Given the description of an element on the screen output the (x, y) to click on. 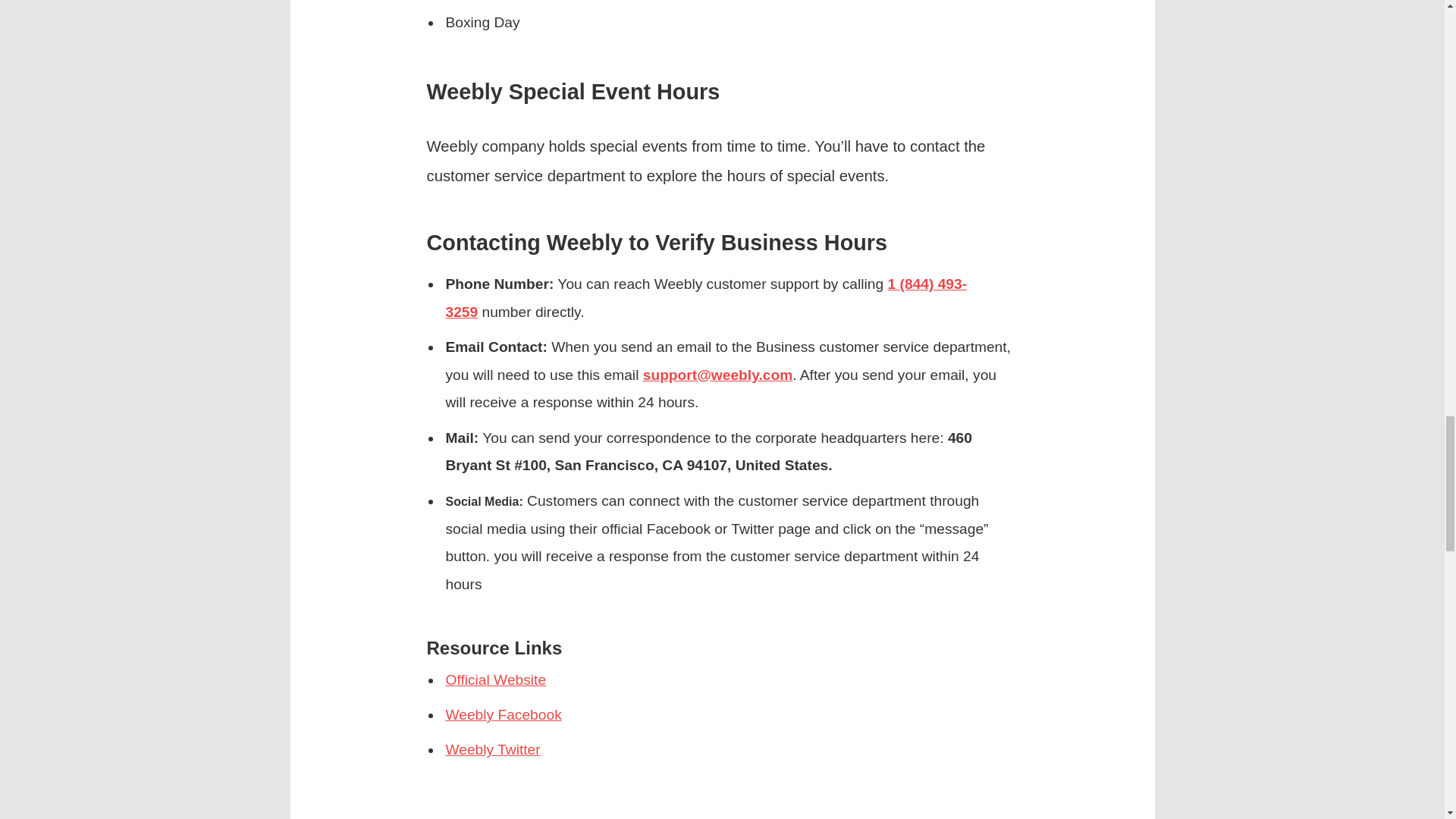
Official Website (496, 679)
Weebly Facebook (503, 714)
Weebly Twitter (492, 749)
